Given the description of an element on the screen output the (x, y) to click on. 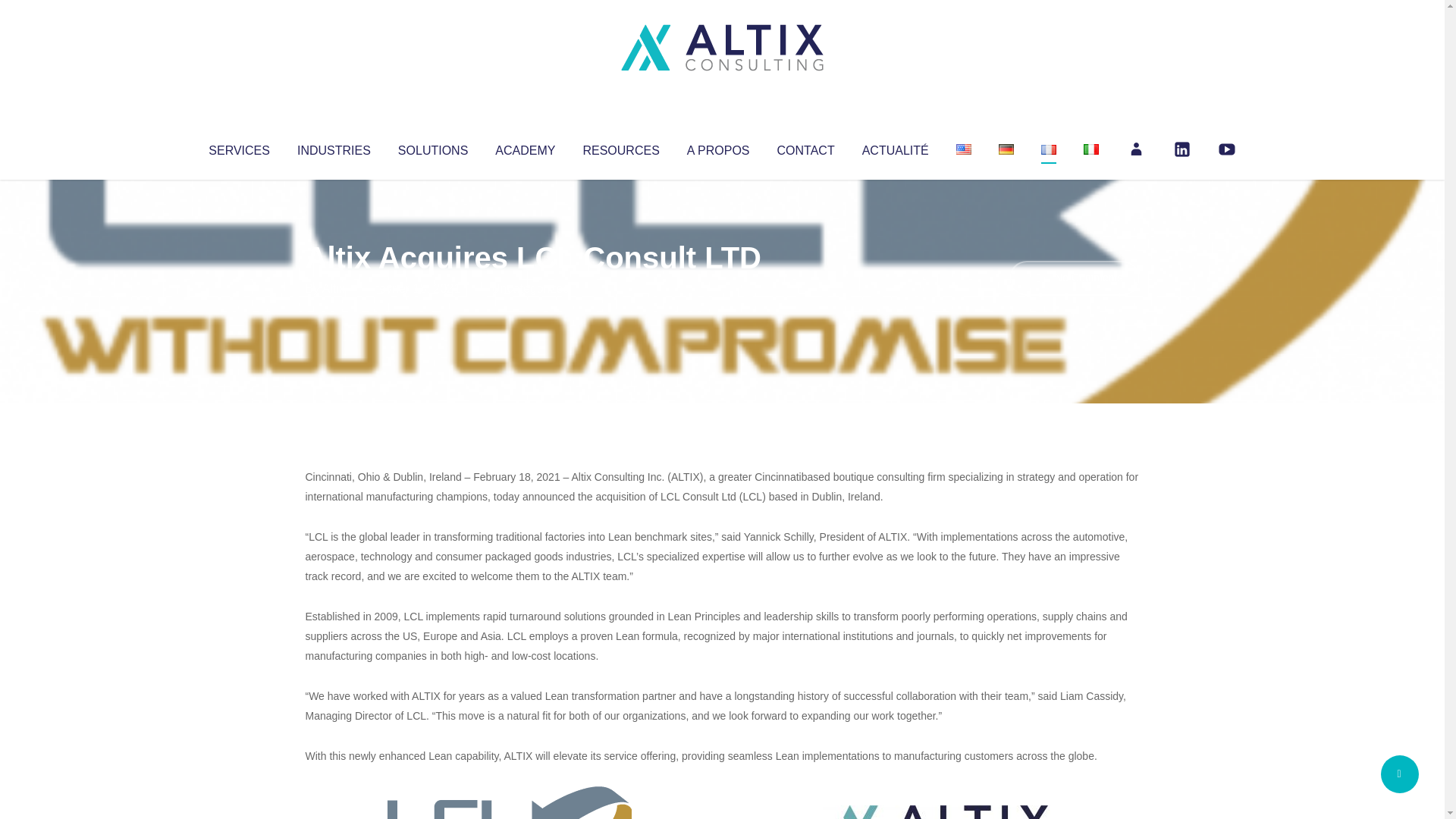
Uncategorized (530, 287)
A PROPOS (718, 146)
SERVICES (238, 146)
INDUSTRIES (334, 146)
No Comments (1073, 278)
SOLUTIONS (432, 146)
Altix (333, 287)
Articles par Altix (333, 287)
RESOURCES (620, 146)
ACADEMY (524, 146)
